Given the description of an element on the screen output the (x, y) to click on. 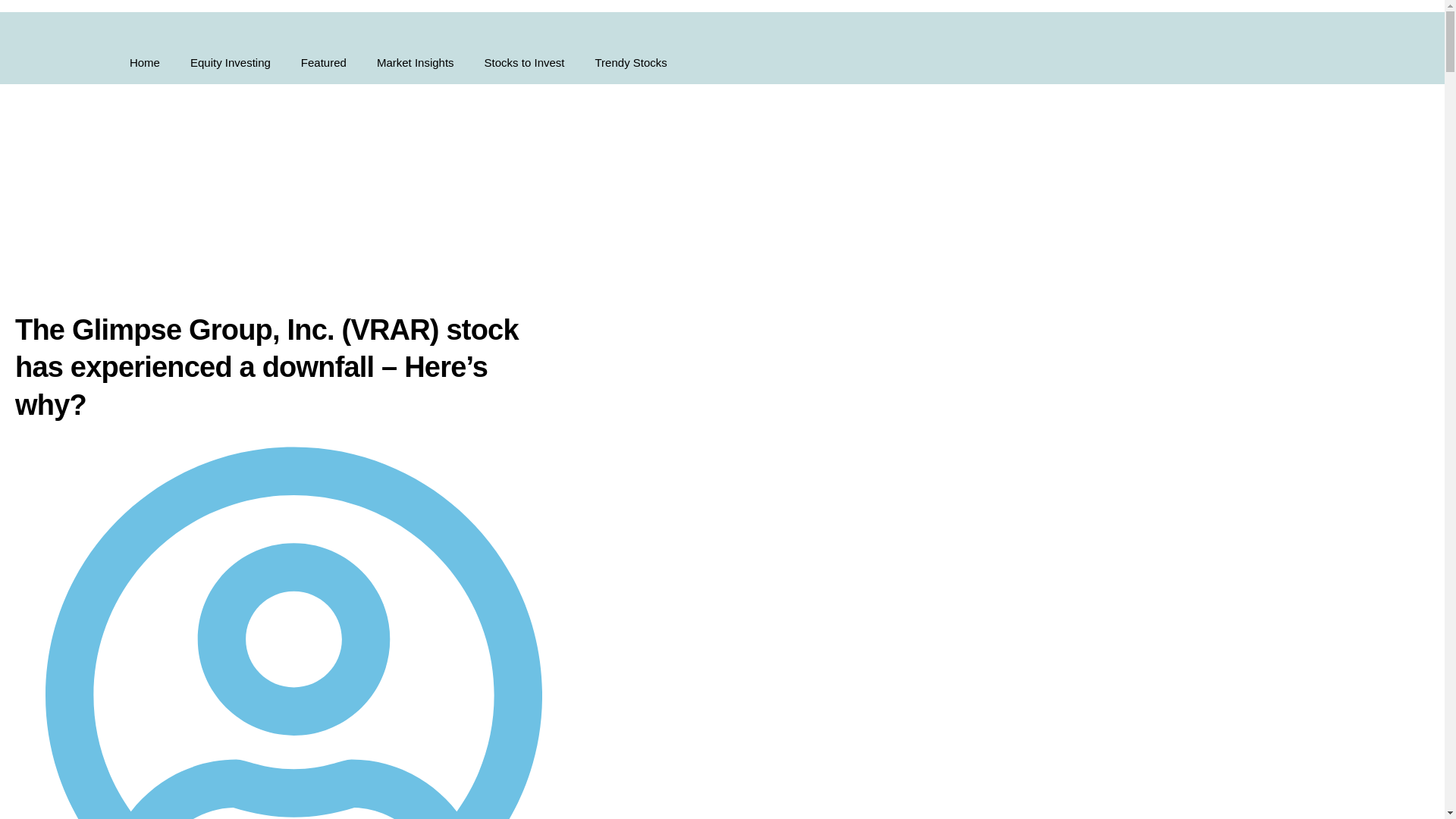
Trendy Stocks (630, 62)
Equity Investing (229, 62)
Home (144, 62)
Featured (323, 62)
Market Insights (414, 62)
Stocks to Invest (523, 62)
